Given the description of an element on the screen output the (x, y) to click on. 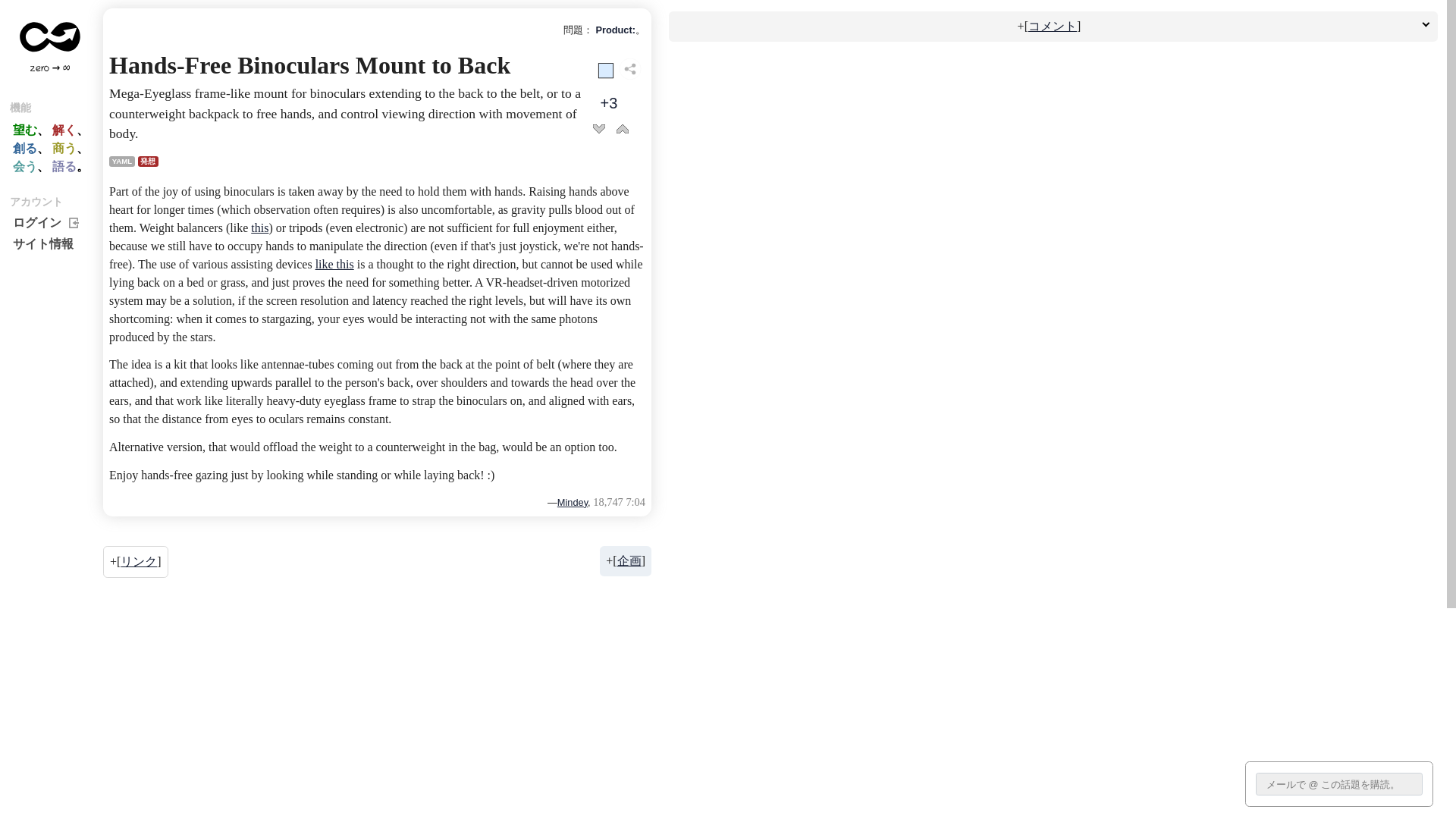
this (325, 284)
like this (418, 330)
Mindey (714, 627)
YAML (152, 201)
18,747 7:04 (773, 626)
Product: (769, 37)
